Given the description of an element on the screen output the (x, y) to click on. 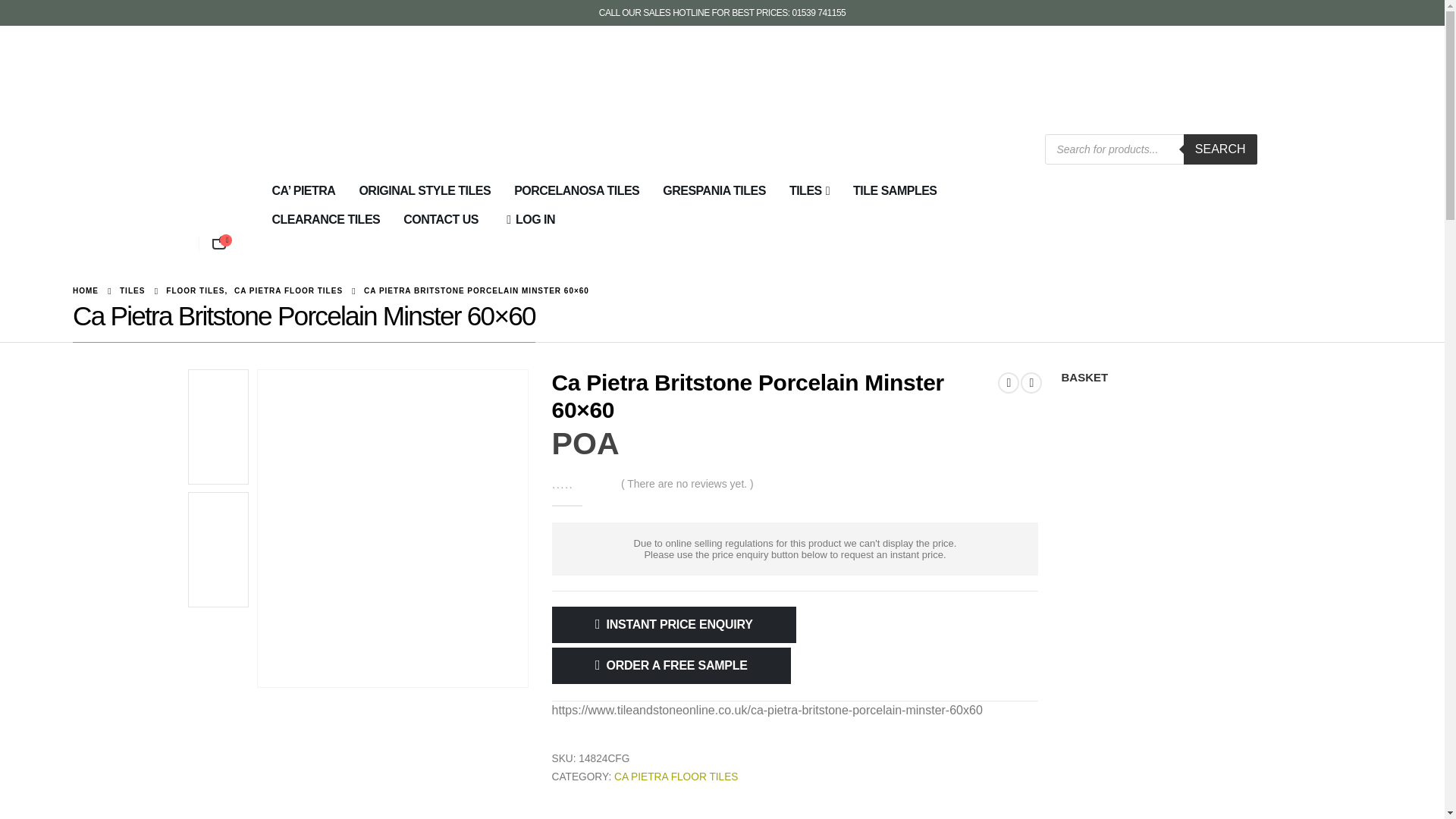
CLEARANCE TILES (325, 219)
Tile and Stone Online - Online Tile Suppliers (263, 110)
SEARCH (1220, 149)
01539 741155 (818, 12)
LOG IN (528, 219)
GRESPANIA TILES (713, 190)
FLOOR TILES (194, 290)
HOME (85, 290)
CA PIETRA FLOOR TILES (676, 776)
INSTANT PRICE ENQUIRY (673, 624)
